Given the description of an element on the screen output the (x, y) to click on. 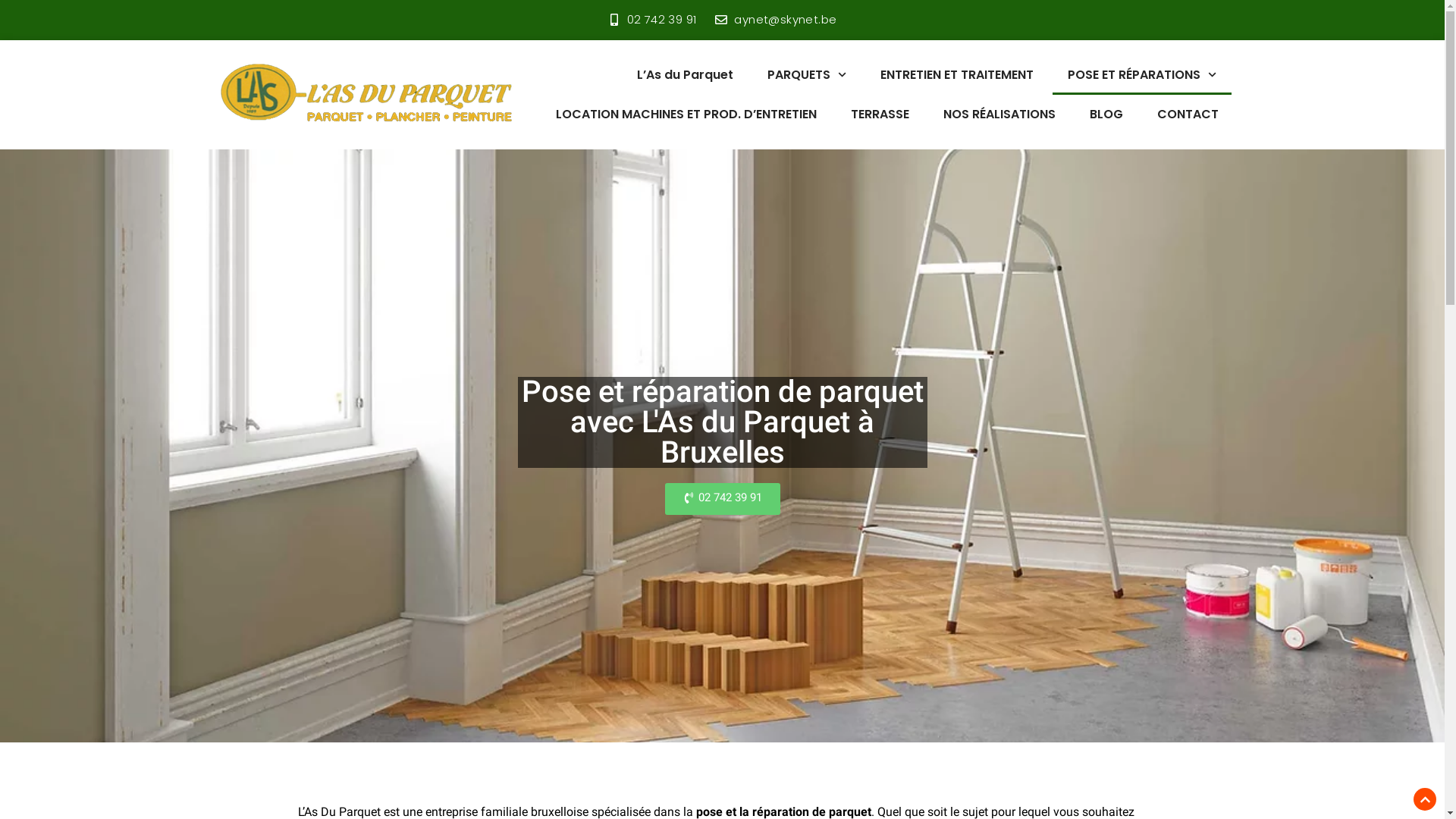
02 742 39 91 Element type: text (721, 498)
TERRASSE Element type: text (879, 113)
BLOG Element type: text (1106, 113)
PARQUETS Element type: text (806, 74)
02 742 39 91 Element type: text (652, 19)
aynet@skynet.be Element type: text (775, 19)
ENTRETIEN ET TRAITEMENT Element type: text (956, 74)
CONTACT Element type: text (1187, 113)
